Given the description of an element on the screen output the (x, y) to click on. 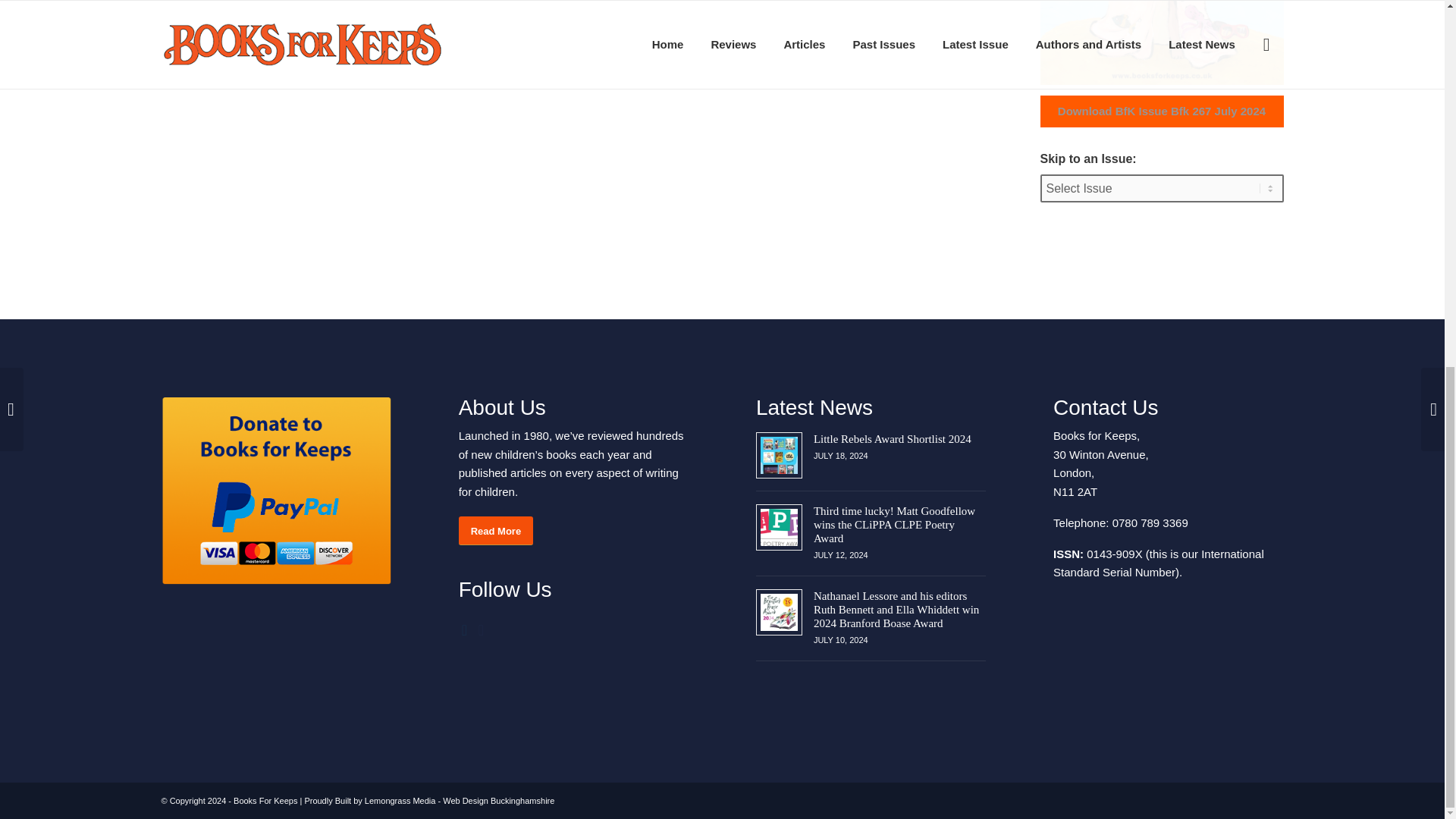
Little Rebels Award Shortlist 2024 (892, 438)
PayPal - The safer, easier way to pay online! (275, 490)
Read More (495, 531)
Link to: Little Rebels Award Shortlist 2024 (892, 438)
Link to: Little Rebels Award Shortlist 2024 (778, 455)
Download BfK Issue Bfk 267 July 2024 (1162, 111)
